Given the description of an element on the screen output the (x, y) to click on. 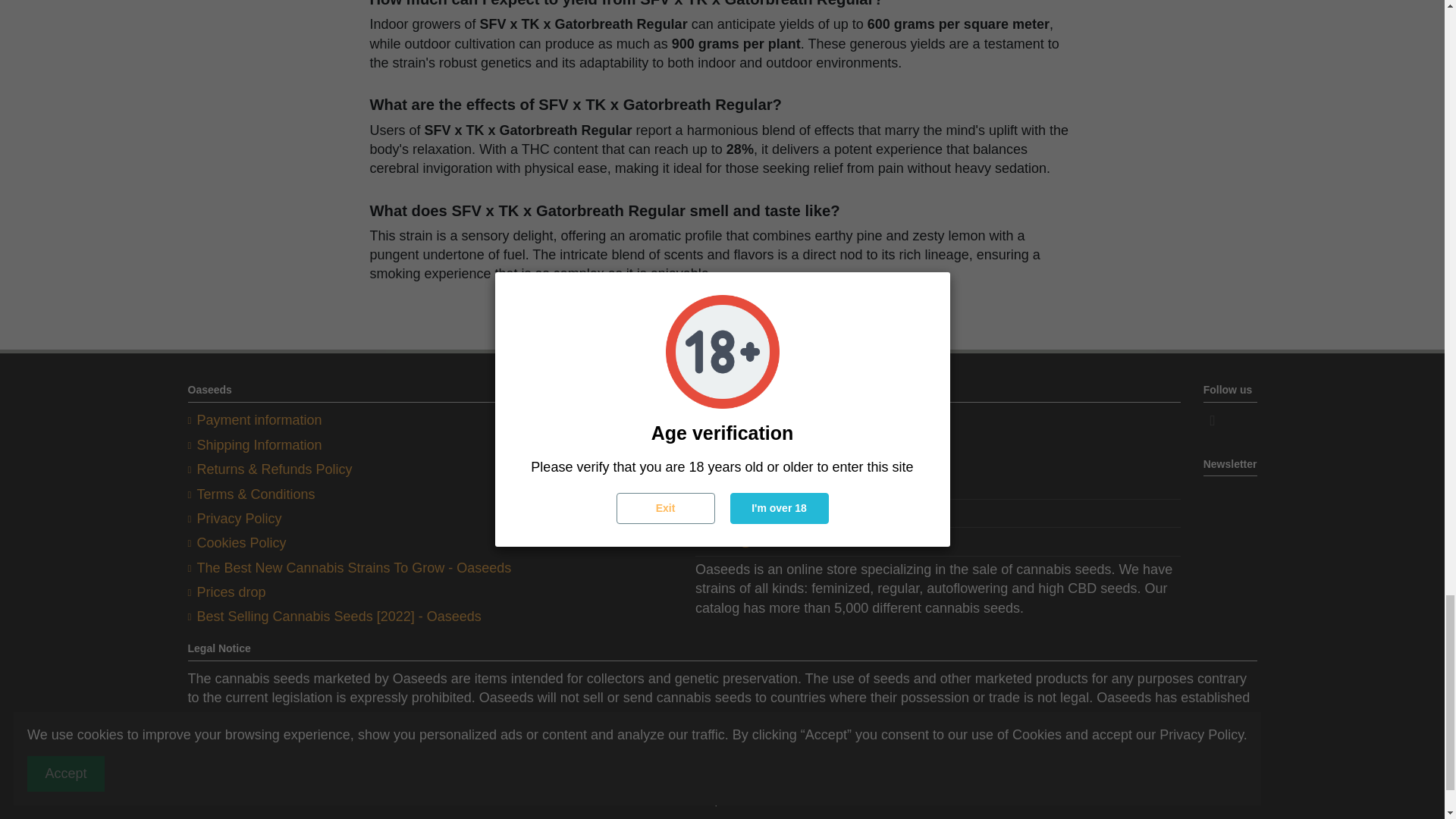
Our terms and conditions of delivery (254, 445)
Cookies Policy (236, 542)
